Given the description of an element on the screen output the (x, y) to click on. 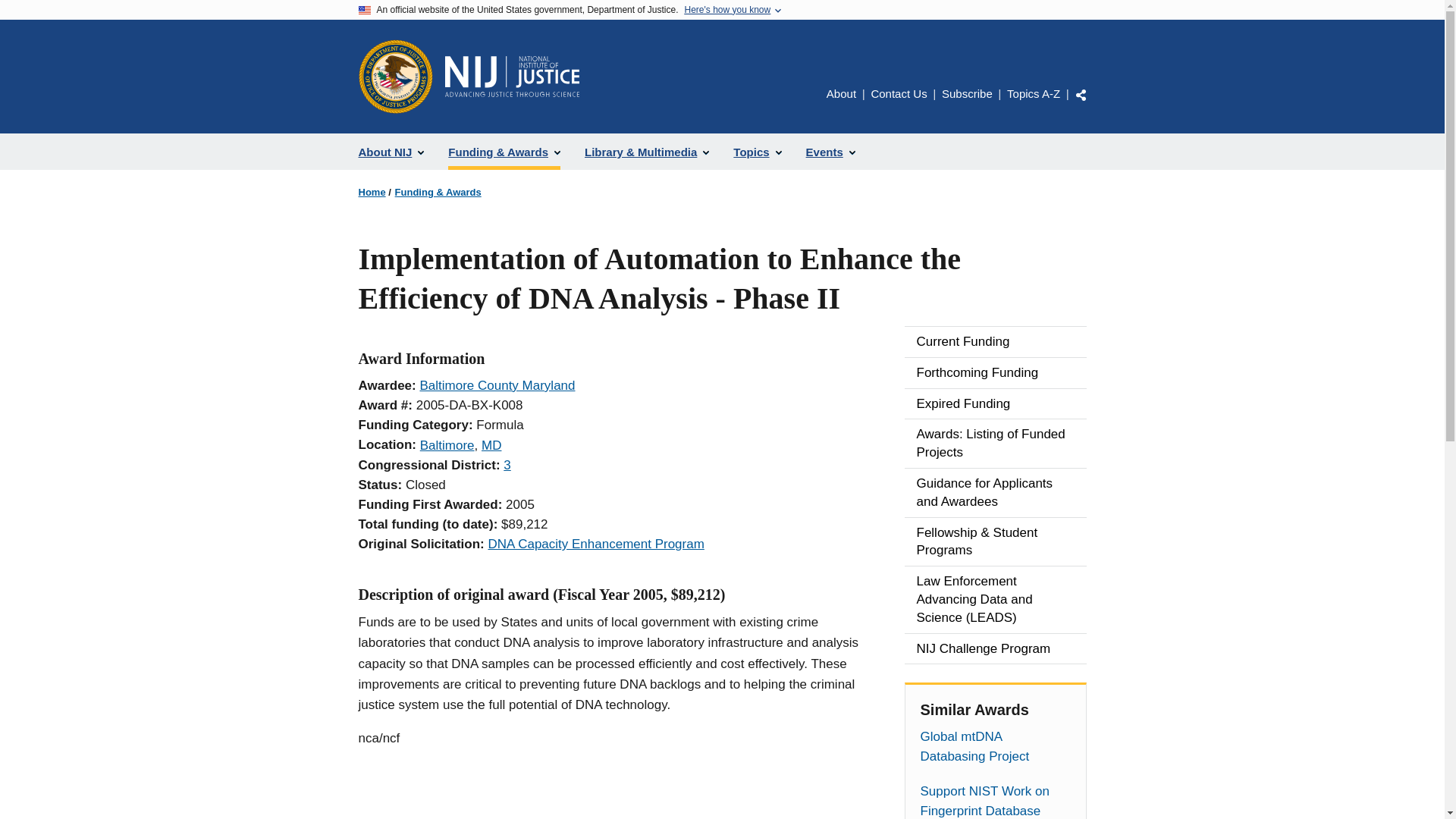
Topics (756, 151)
Support NIST Work on Fingerprint Database (995, 800)
Here's how you know (727, 9)
NIJ Challenge Program (995, 648)
Forthcoming Funding (995, 372)
Baltimore (447, 445)
Global mtDNA Databasing Project (995, 746)
Home (371, 192)
Contact Us (898, 93)
DNA Capacity Enhancement Program (595, 544)
